Given the description of an element on the screen output the (x, y) to click on. 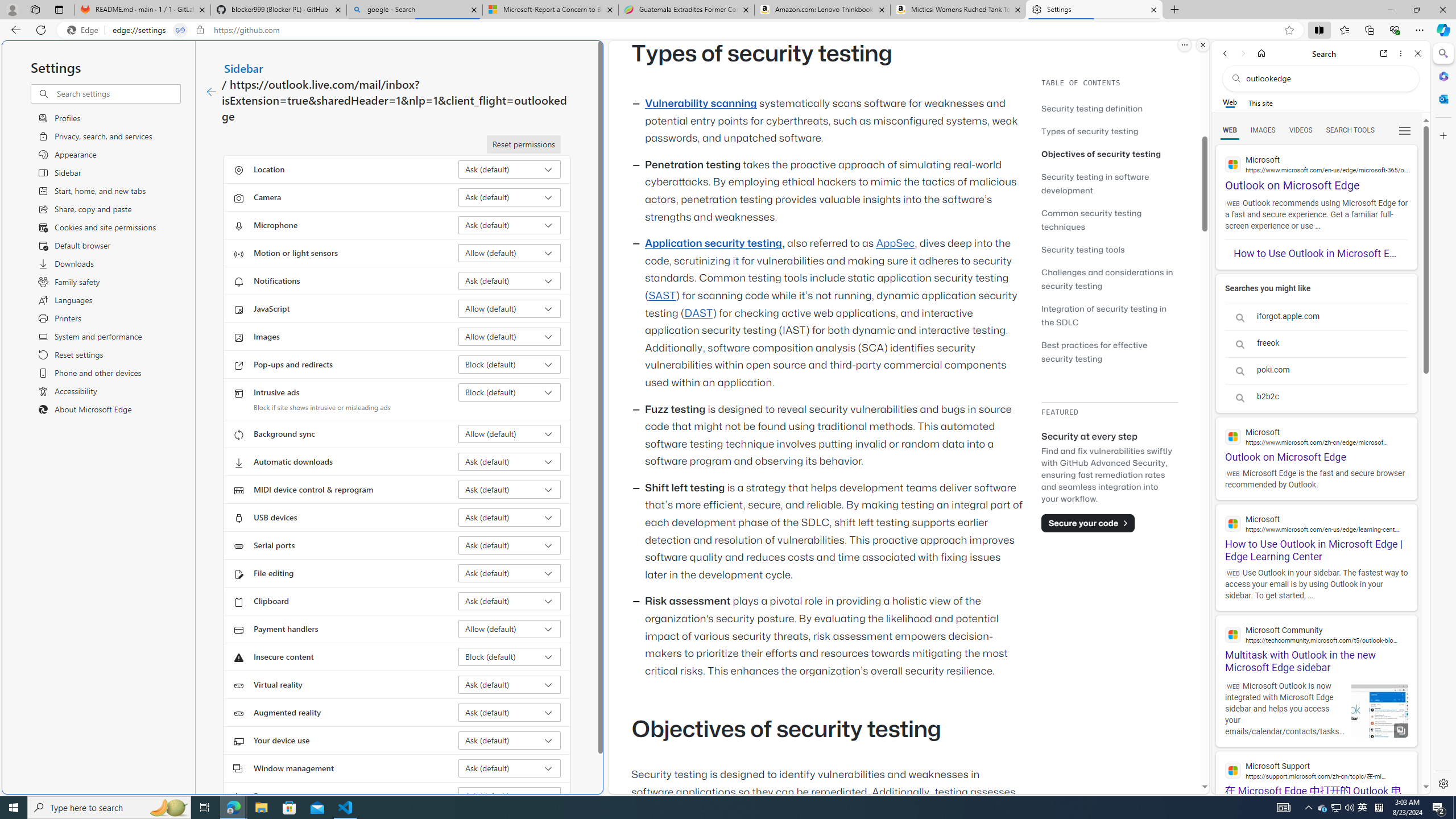
Close split screen. (1202, 45)
Sidebar (243, 67)
Images Allow (default) (509, 336)
Automatic downloads Ask (default) (509, 461)
Serial ports Ask (default) (509, 545)
Search settings (117, 93)
